Given the description of an element on the screen output the (x, y) to click on. 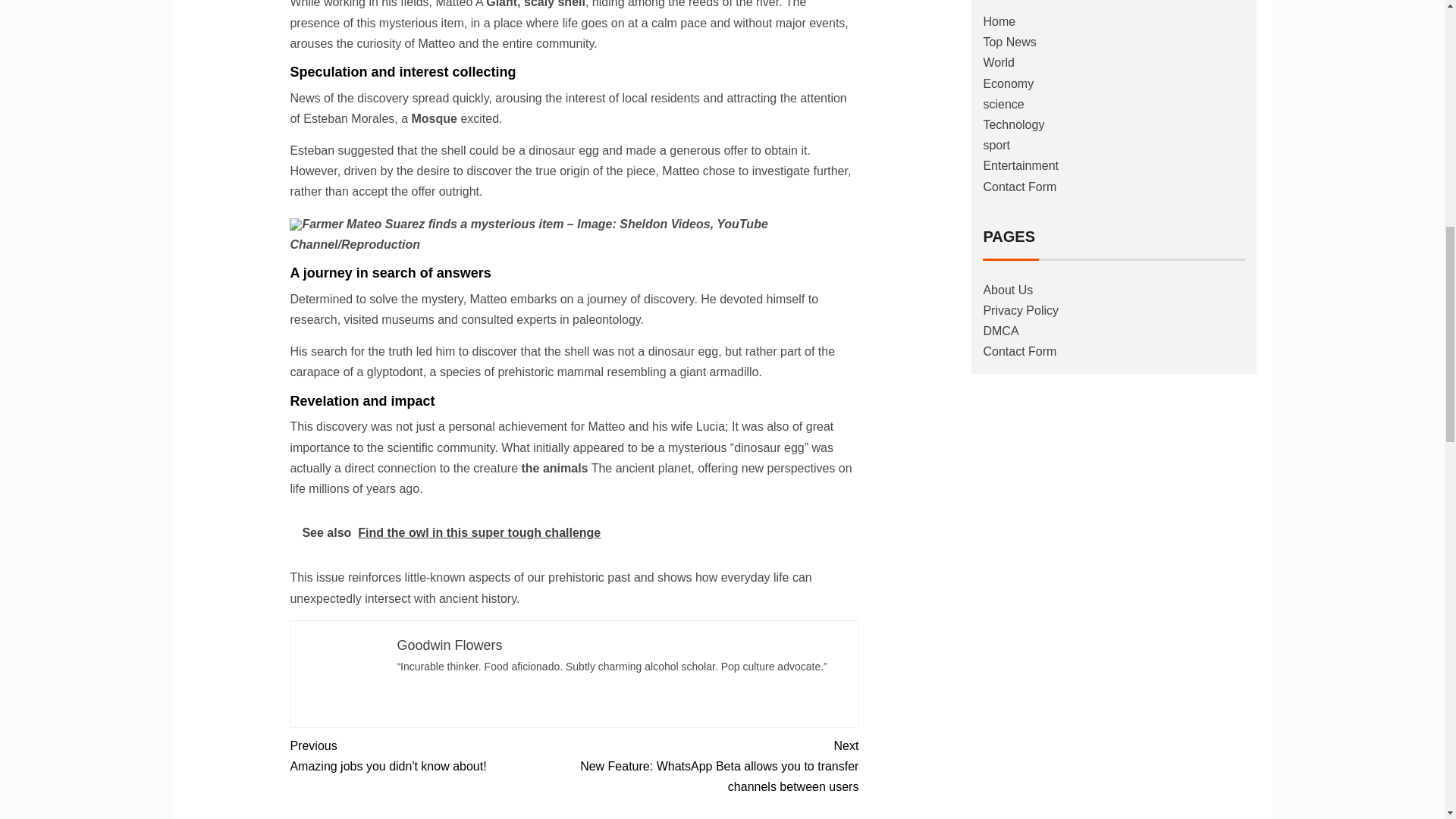
Goodwin Flowers (431, 755)
See also  Find the owl in this super tough challenge (449, 645)
